Given the description of an element on the screen output the (x, y) to click on. 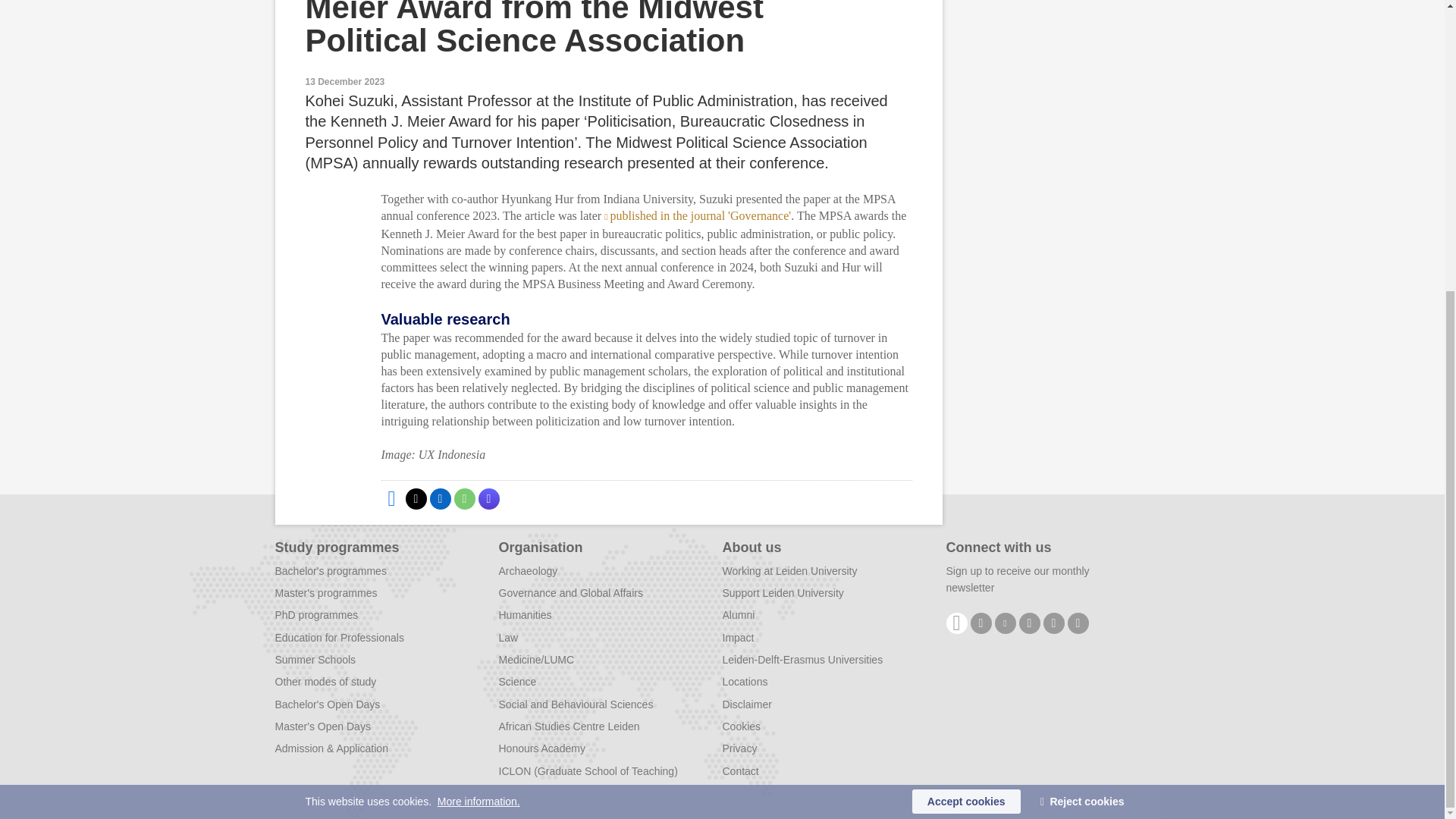
Share by Mastodon (488, 498)
Share on X (415, 498)
Share on Facebook (390, 498)
published in the journal 'Governance' (697, 215)
Share on LinkedIn (439, 498)
Share by WhatsApp (463, 498)
